Given the description of an element on the screen output the (x, y) to click on. 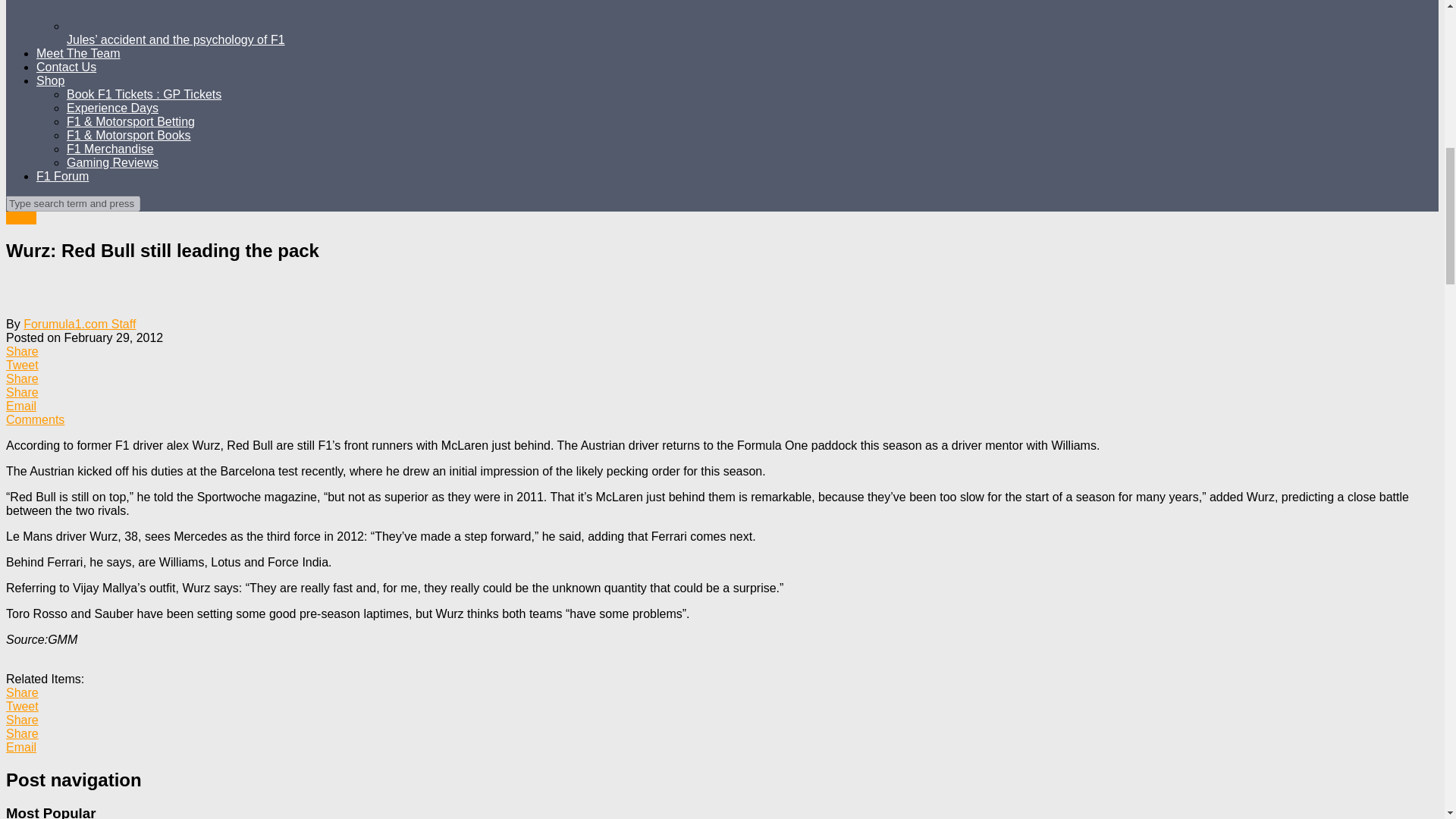
Type search term and press enter (72, 203)
Contact Us (66, 66)
Experience Days (112, 107)
F1 Merchandise (110, 148)
F1 Forum (62, 175)
Gaming Reviews (112, 162)
Book F1 Tickets : GP Tickets (143, 93)
Meet The Team (78, 52)
Shop (50, 80)
Posts by Forumula1.com Staff (79, 323)
